Given the description of an element on the screen output the (x, y) to click on. 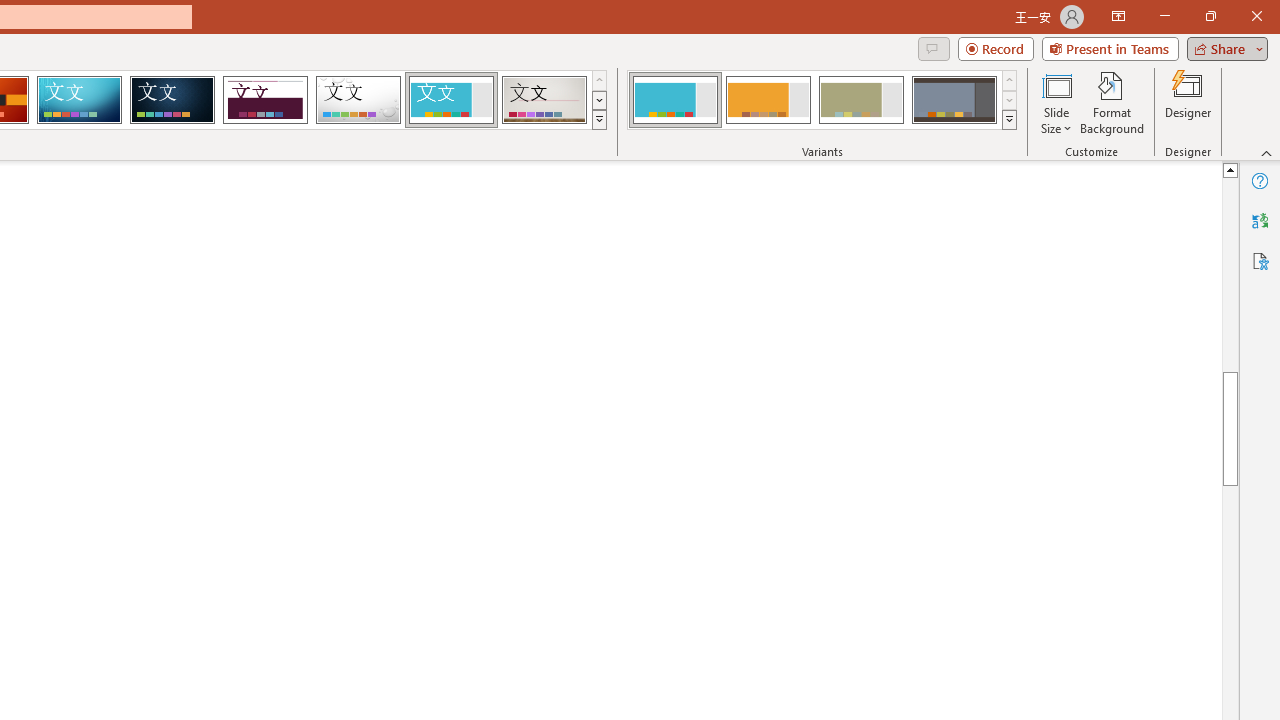
Frame Variant 1 (674, 100)
Dividend (265, 100)
Frame Variant 4 (953, 100)
Slide Size (1056, 102)
Damask (171, 100)
Frame (450, 100)
Format Background (1111, 102)
Frame Variant 3 (861, 100)
AutomationID: ThemeVariantsGallery (822, 99)
